Given the description of an element on the screen output the (x, y) to click on. 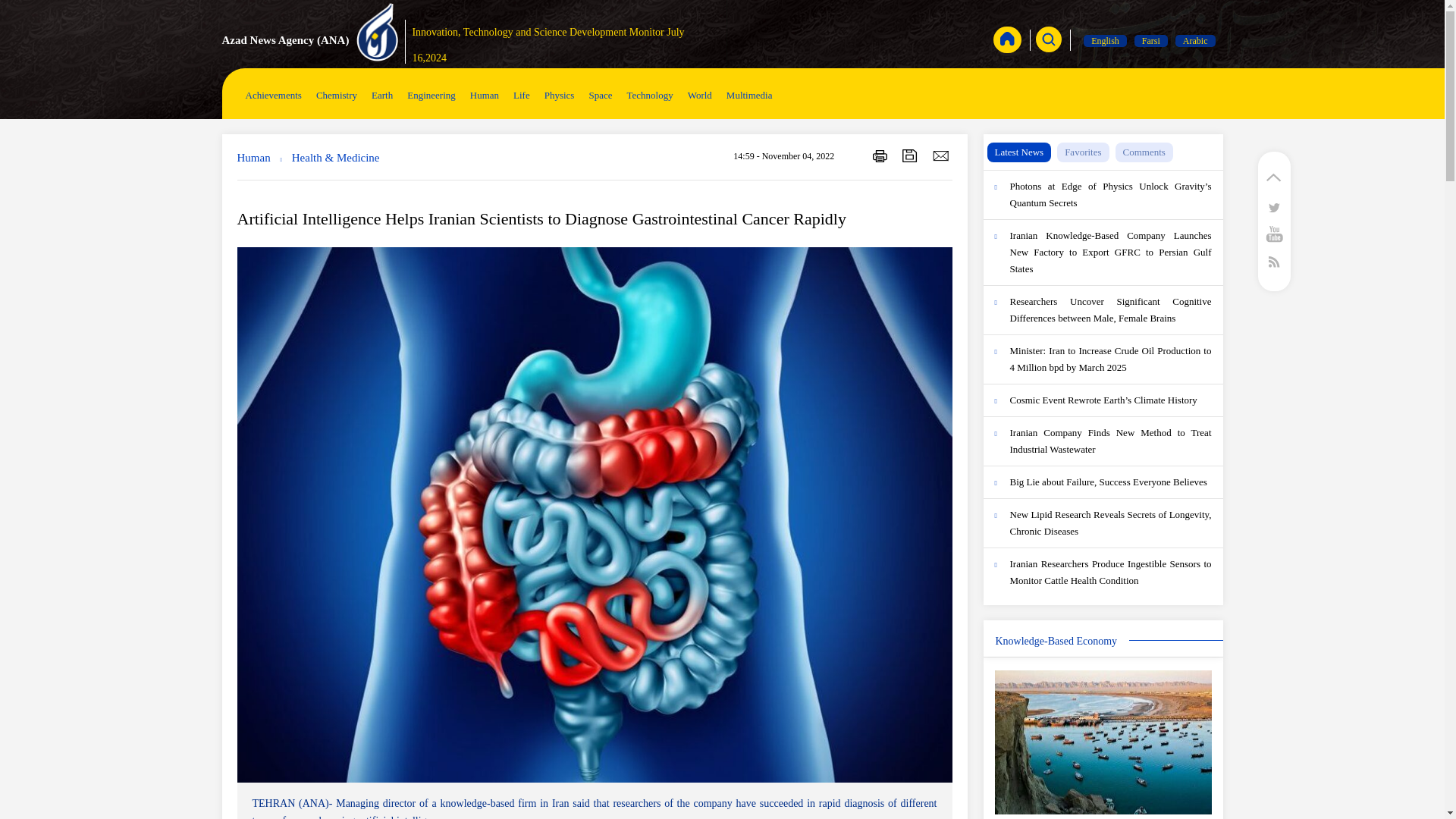
Human (484, 94)
Earth (381, 94)
Chemistry (336, 94)
Twitter (1273, 206)
Arabic (1194, 40)
Save (909, 155)
Farsi (1150, 40)
Life (520, 94)
Print (879, 155)
Engineering (431, 94)
English (1104, 40)
Send to friends (941, 155)
Achievements (273, 94)
